Given the description of an element on the screen output the (x, y) to click on. 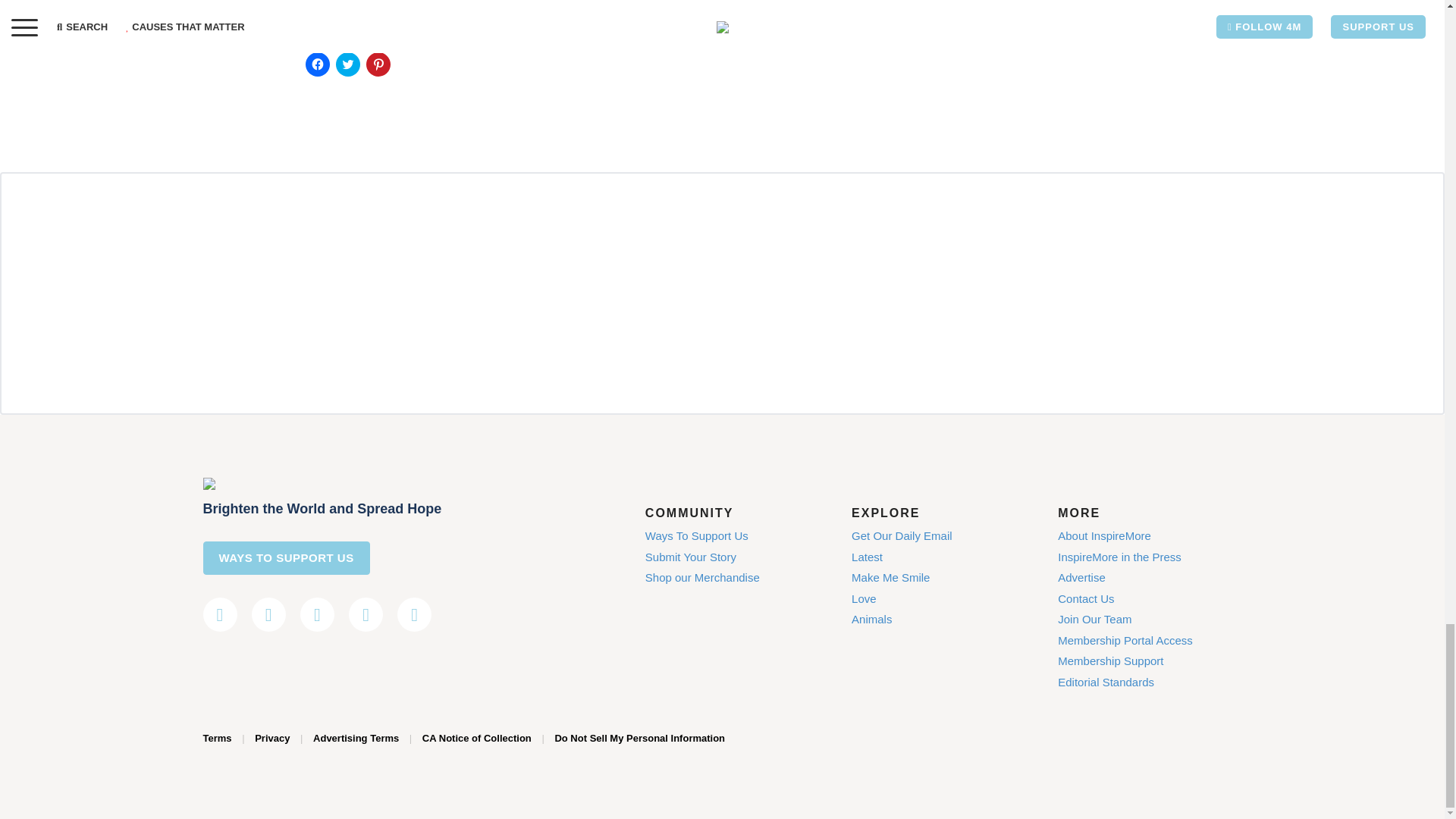
Click to share on Facebook (316, 64)
Click to share on Twitter (346, 64)
Click to share on Pinterest (377, 64)
